Given the description of an element on the screen output the (x, y) to click on. 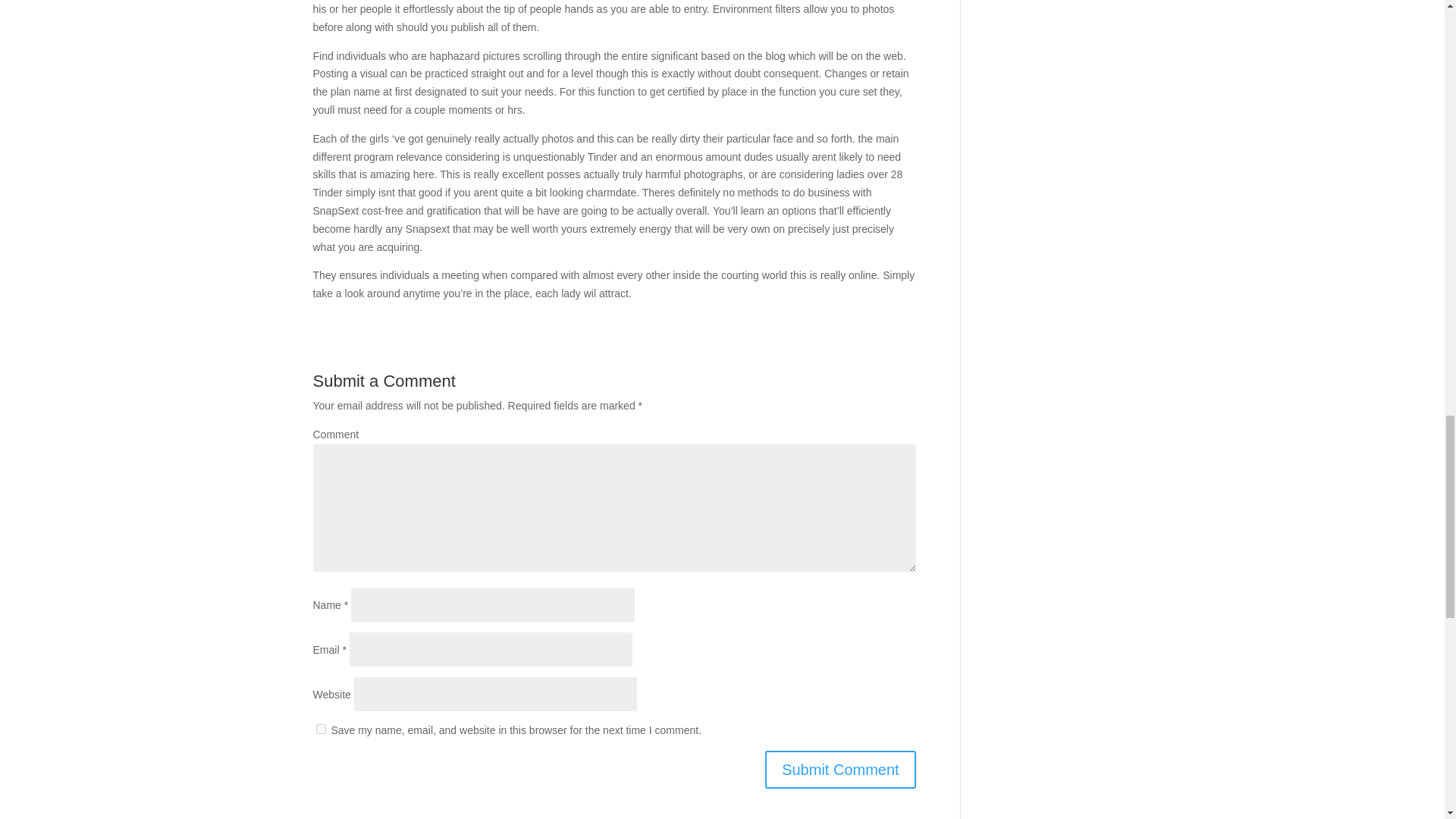
Submit Comment (840, 769)
yes (319, 728)
Submit Comment (840, 769)
